Given the description of an element on the screen output the (x, y) to click on. 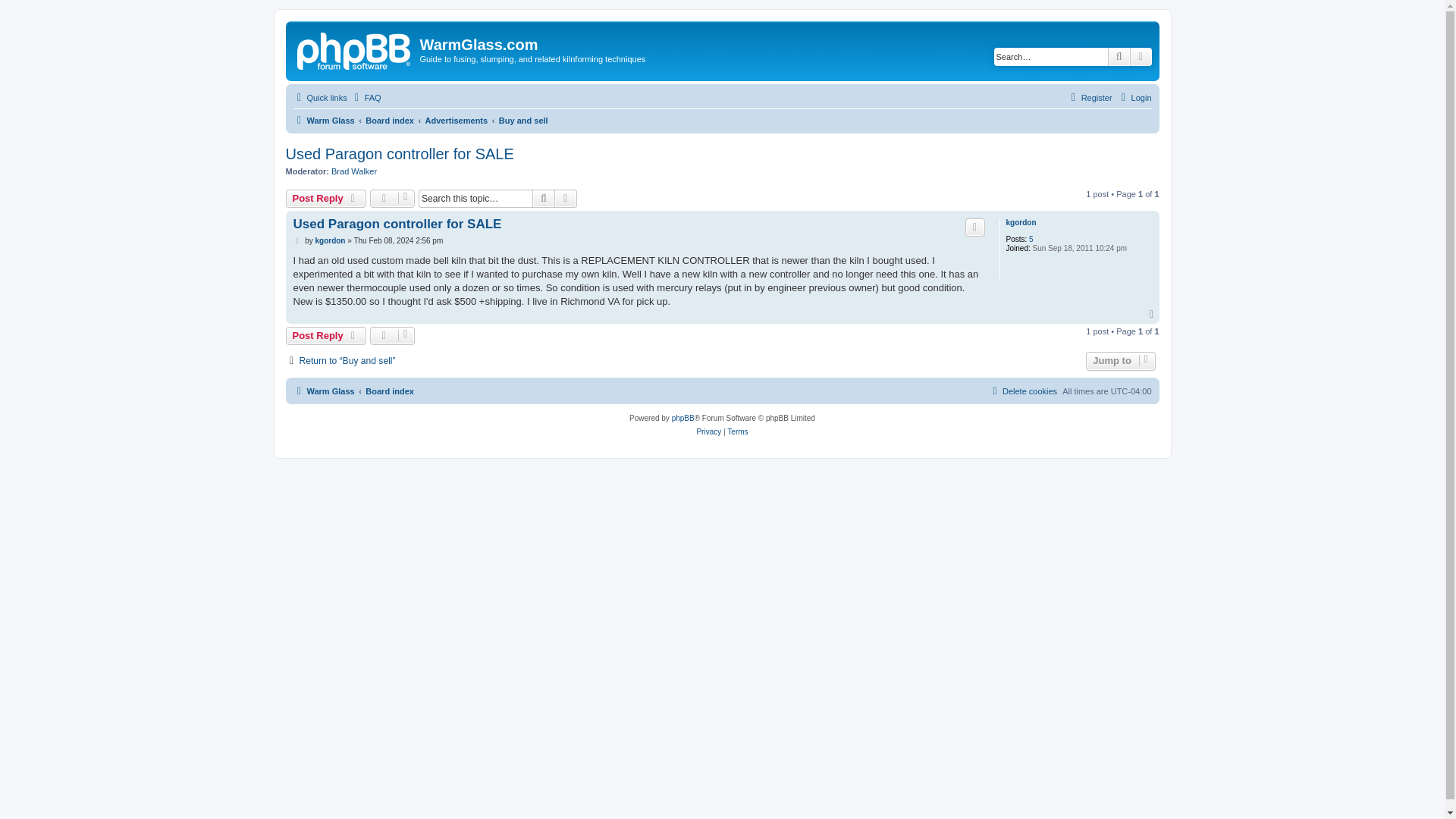
Post Reply (325, 335)
Quick links (319, 97)
Search (1119, 56)
Board index (389, 120)
Post a reply (325, 198)
5 (1031, 239)
Login (1134, 97)
Topic tools (391, 198)
Used Paragon controller for SALE (399, 153)
Reply with quote (975, 227)
Used Paragon controller for SALE (396, 223)
Register (1089, 97)
Warm Glass (354, 49)
Quote (975, 227)
Brad Walker (354, 171)
